Given the description of an element on the screen output the (x, y) to click on. 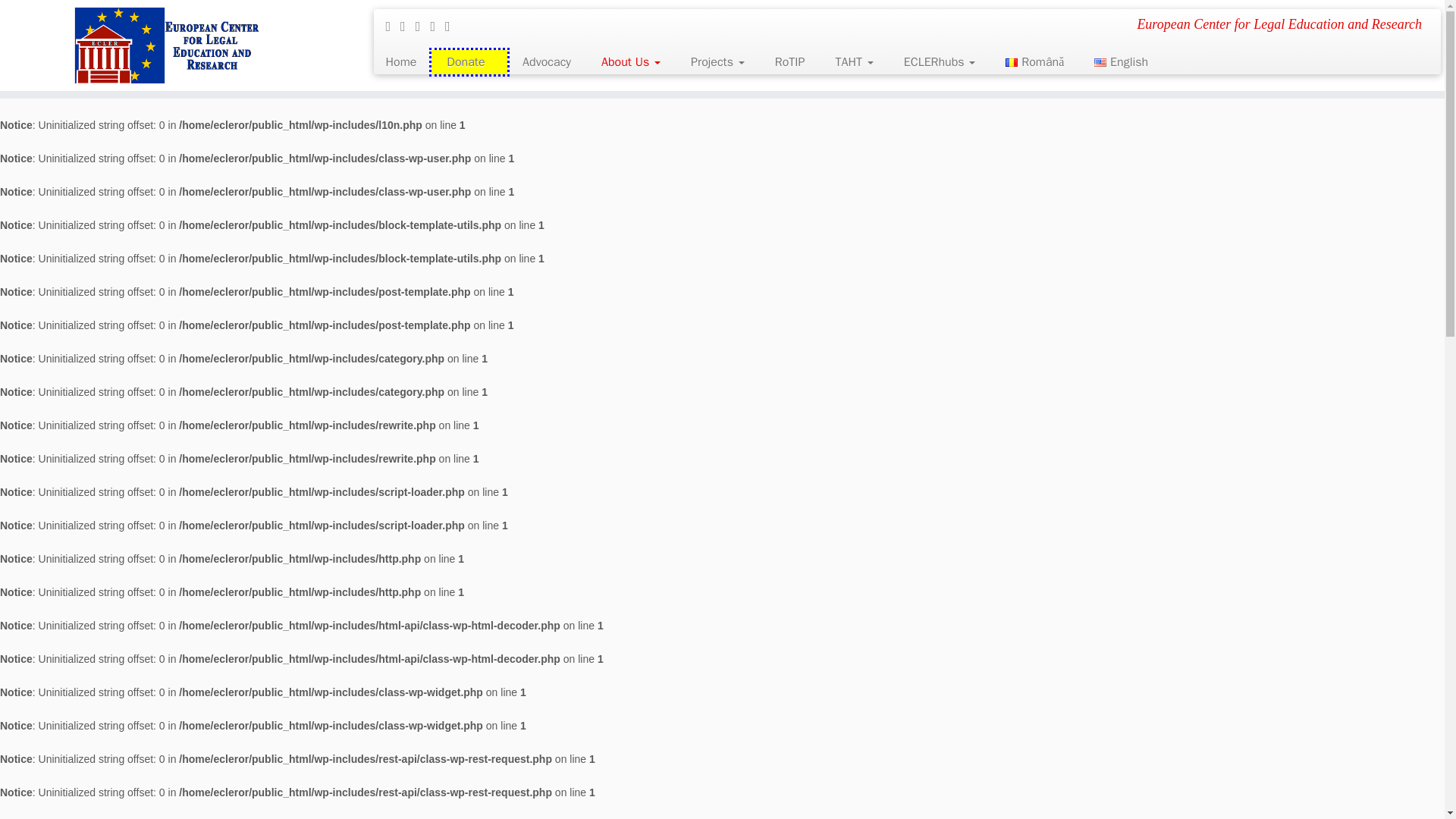
E-mail (392, 26)
Advocacy (546, 61)
About Us (630, 61)
Follow us on Instagram (437, 26)
Donate   (468, 61)
Follow me on LinkedIn (422, 26)
Follow us on Youtube (452, 26)
Projects (717, 61)
Home (405, 61)
Follow me on Facebook (407, 26)
RoTIP (790, 61)
TAHT (853, 61)
